Given the description of an element on the screen output the (x, y) to click on. 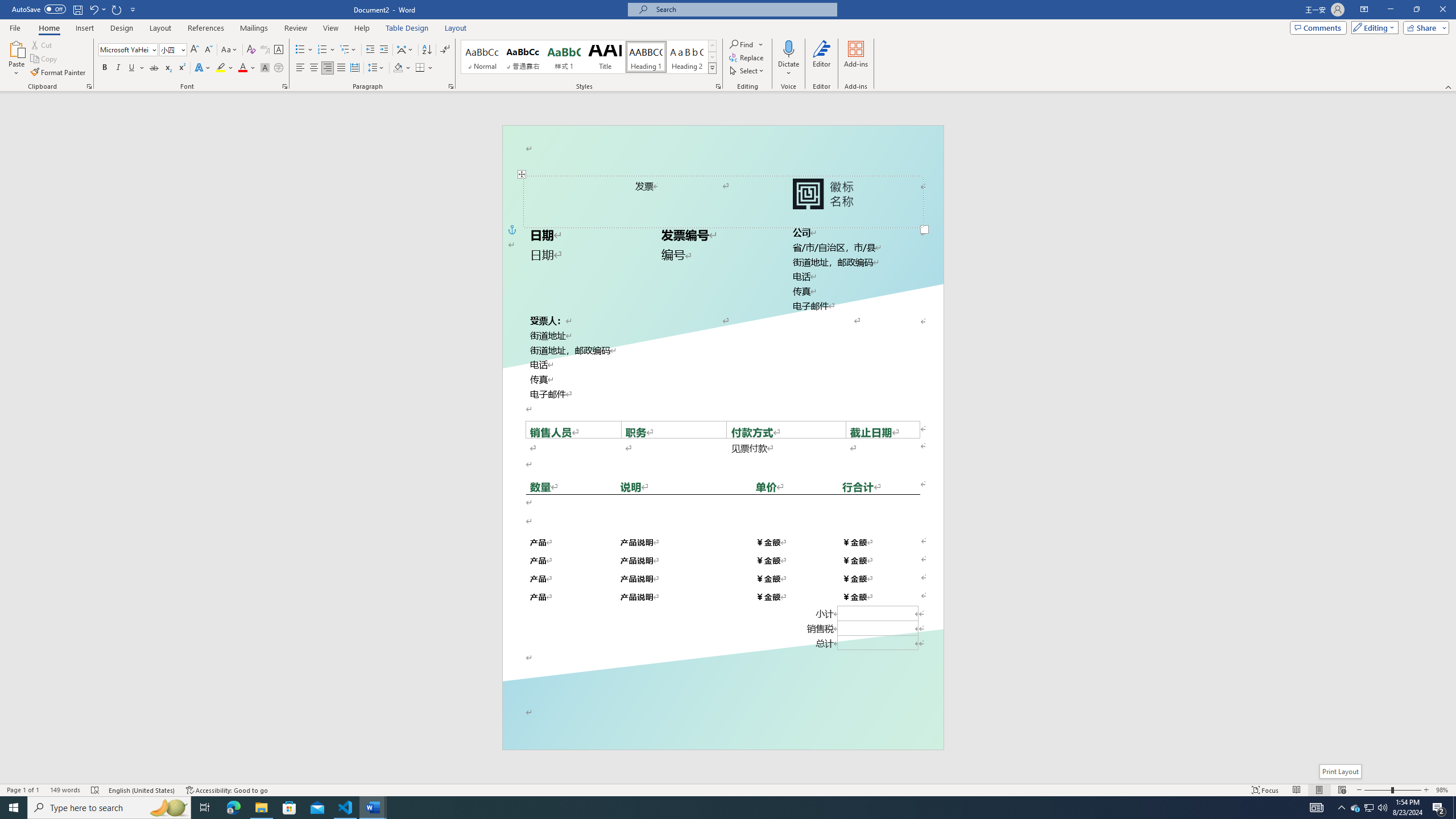
Strikethrough (154, 67)
Sort... (426, 49)
Show/Hide Editing Marks (444, 49)
Paragraph... (450, 85)
Increase Indent (383, 49)
